Given the description of an element on the screen output the (x, y) to click on. 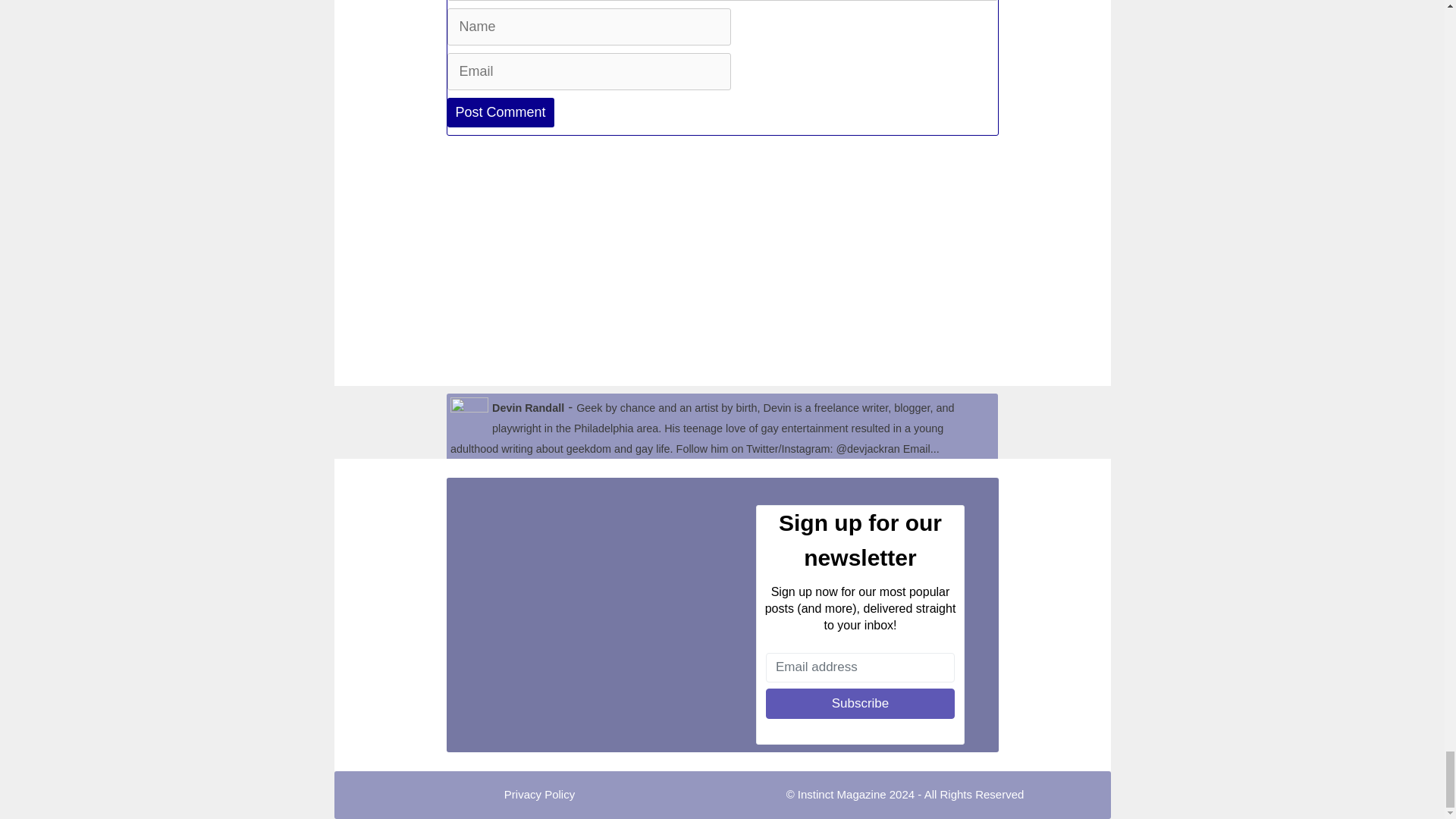
Subscribe (860, 703)
View all posts by Devin Randall (528, 408)
Post Comment (500, 112)
